Given the description of an element on the screen output the (x, y) to click on. 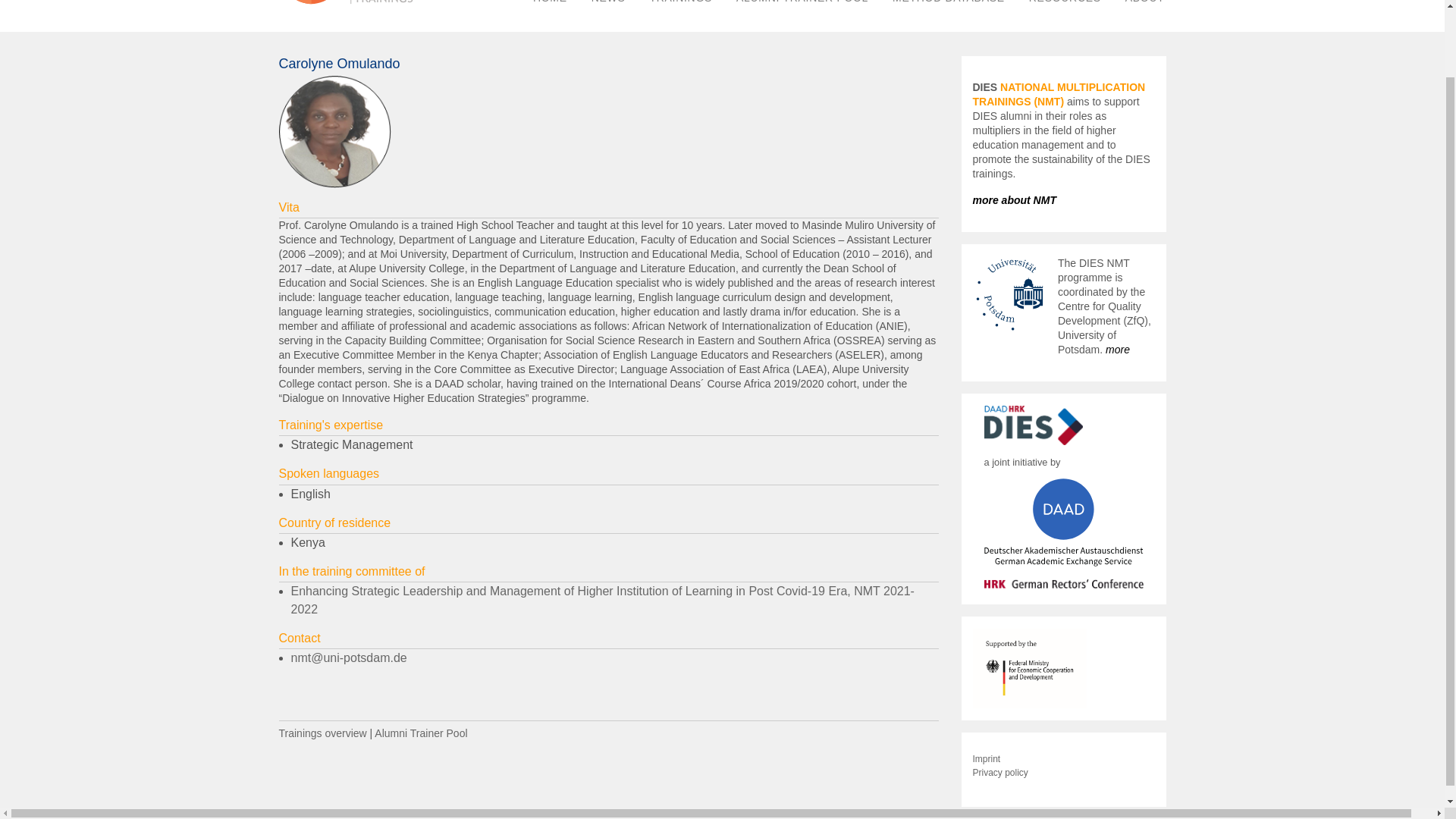
TRAININGS (680, 5)
RESOURCES (1064, 5)
Alumni Trainer Pool (420, 733)
RESOURCES (1064, 5)
HOME (550, 5)
ALUMNI TRAINER POOL (802, 5)
ABOUT (1144, 5)
HOME (550, 5)
Privacy policy (999, 772)
ALUMNI TRAINER POOL (802, 5)
